Given the description of an element on the screen output the (x, y) to click on. 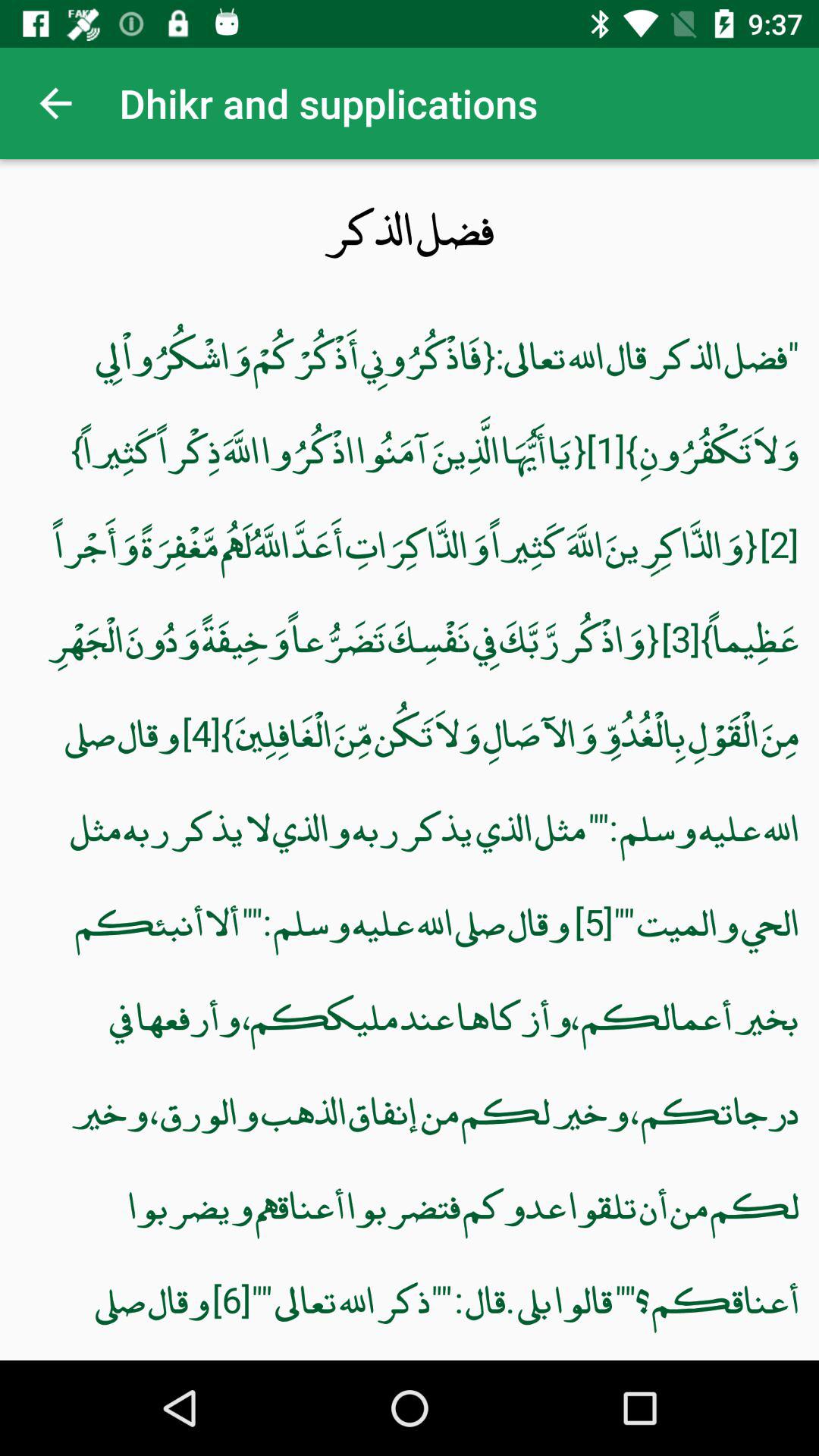
launch icon at the top left corner (55, 103)
